Given the description of an element on the screen output the (x, y) to click on. 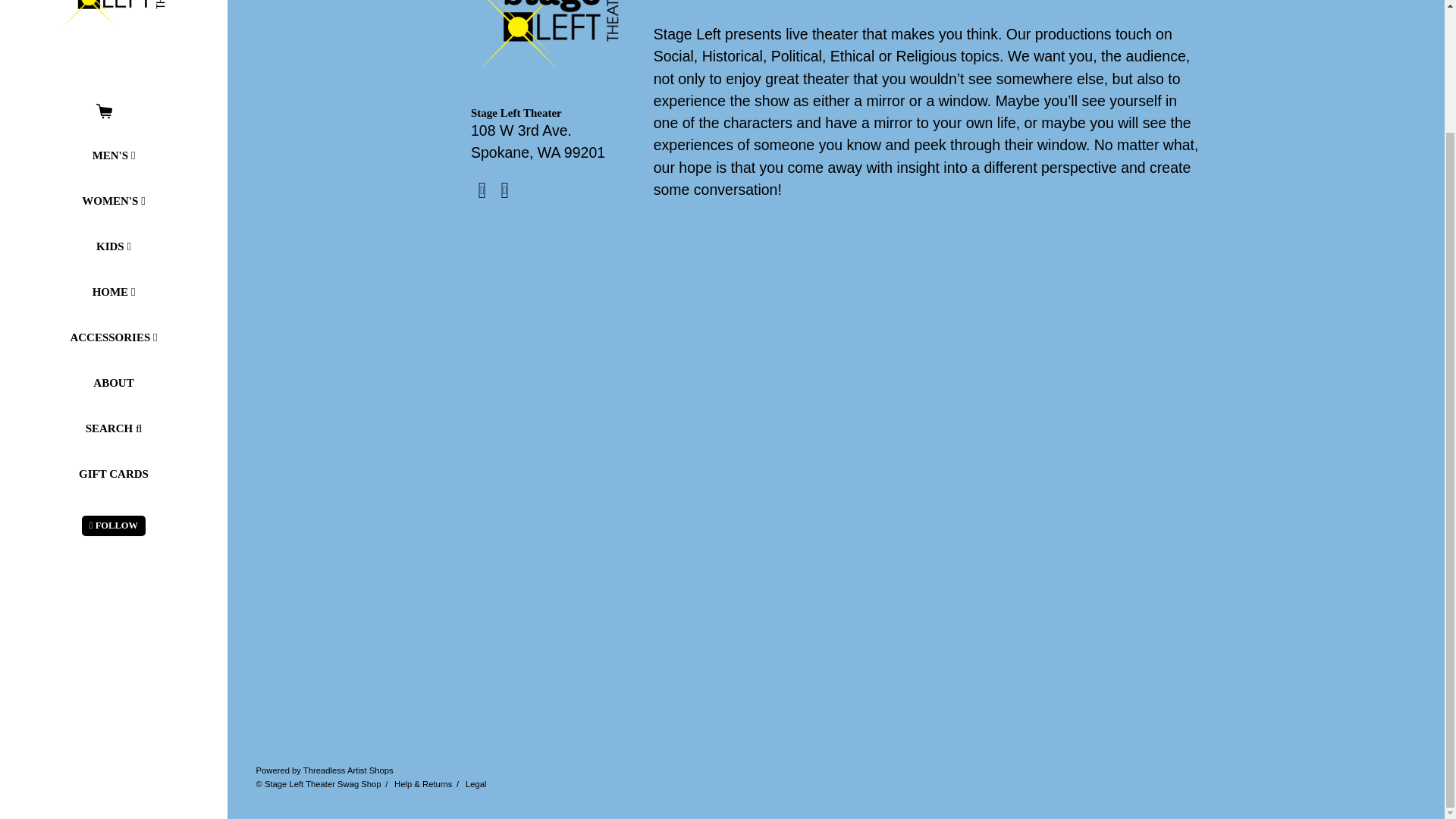
Shop Men's (113, 155)
MEN'S (113, 155)
WOMEN'S (113, 200)
